Given the description of an element on the screen output the (x, y) to click on. 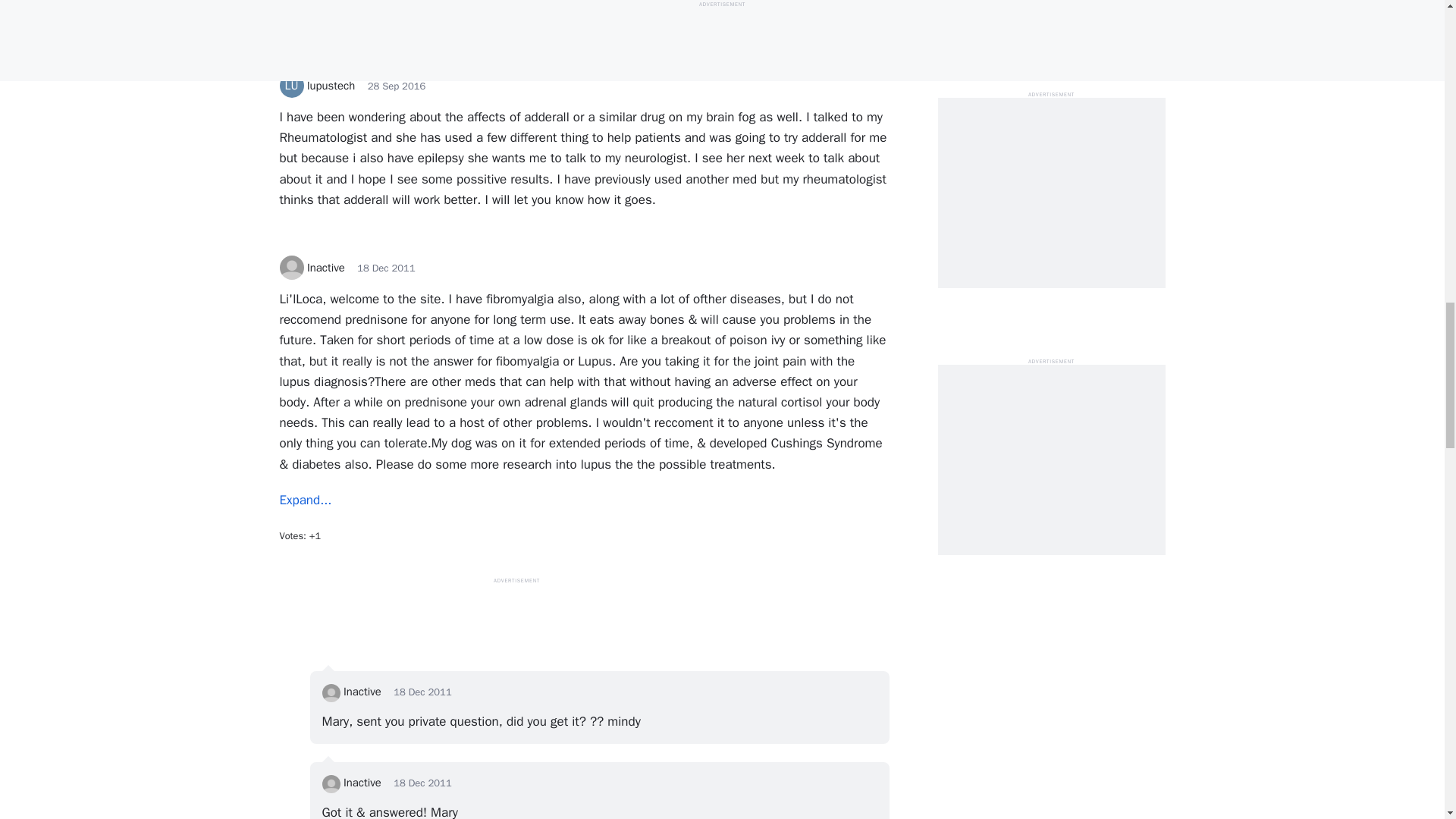
28 September 2016 6:05pm (397, 85)
18 December 2011 10:20am (422, 691)
18 December 2011 11:06am (422, 782)
18 December 2011 9:09am (385, 267)
